Given the description of an element on the screen output the (x, y) to click on. 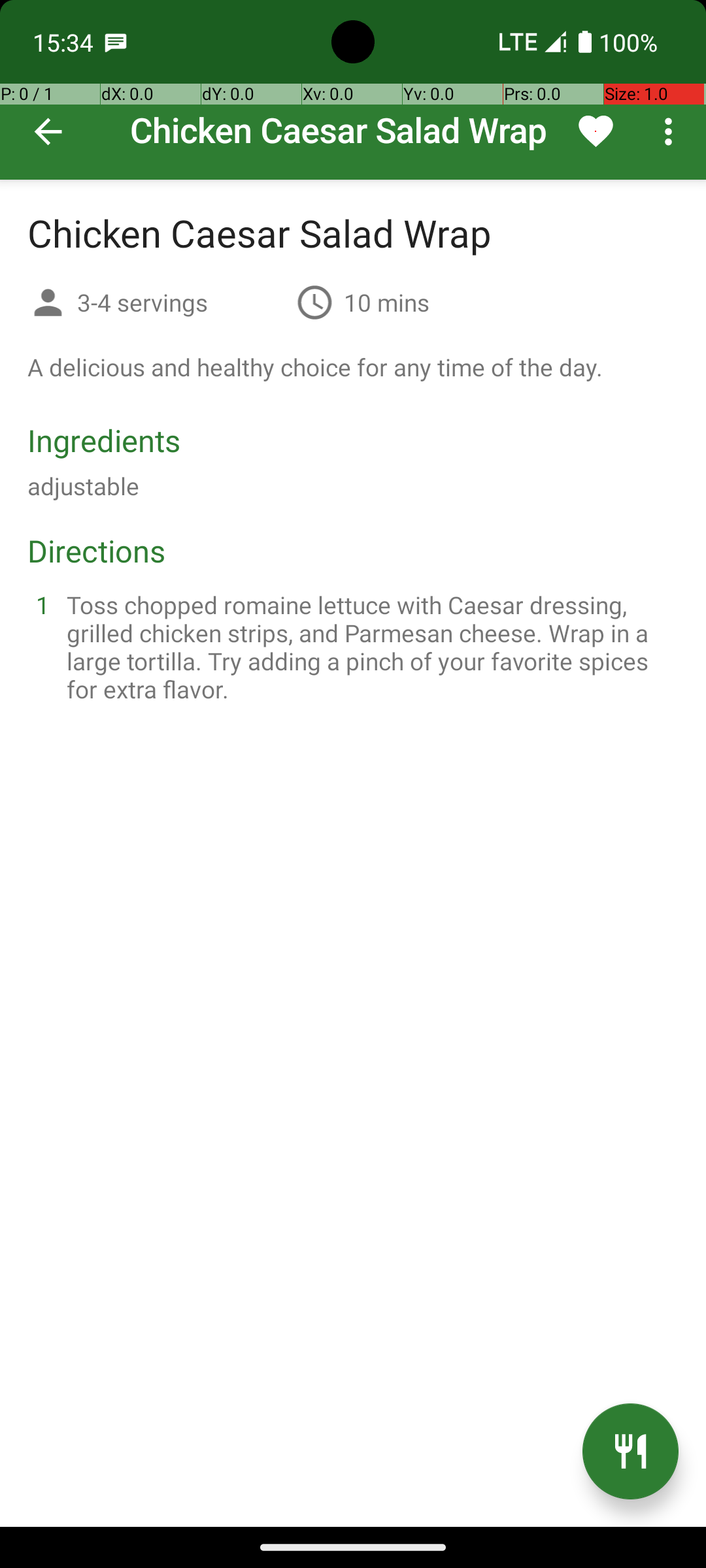
Toss chopped romaine lettuce with Caesar dressing, grilled chicken strips, and Parmesan cheese. Wrap in a large tortilla. Try adding a pinch of your favorite spices for extra flavor. Element type: android.widget.TextView (368, 646)
